Given the description of an element on the screen output the (x, y) to click on. 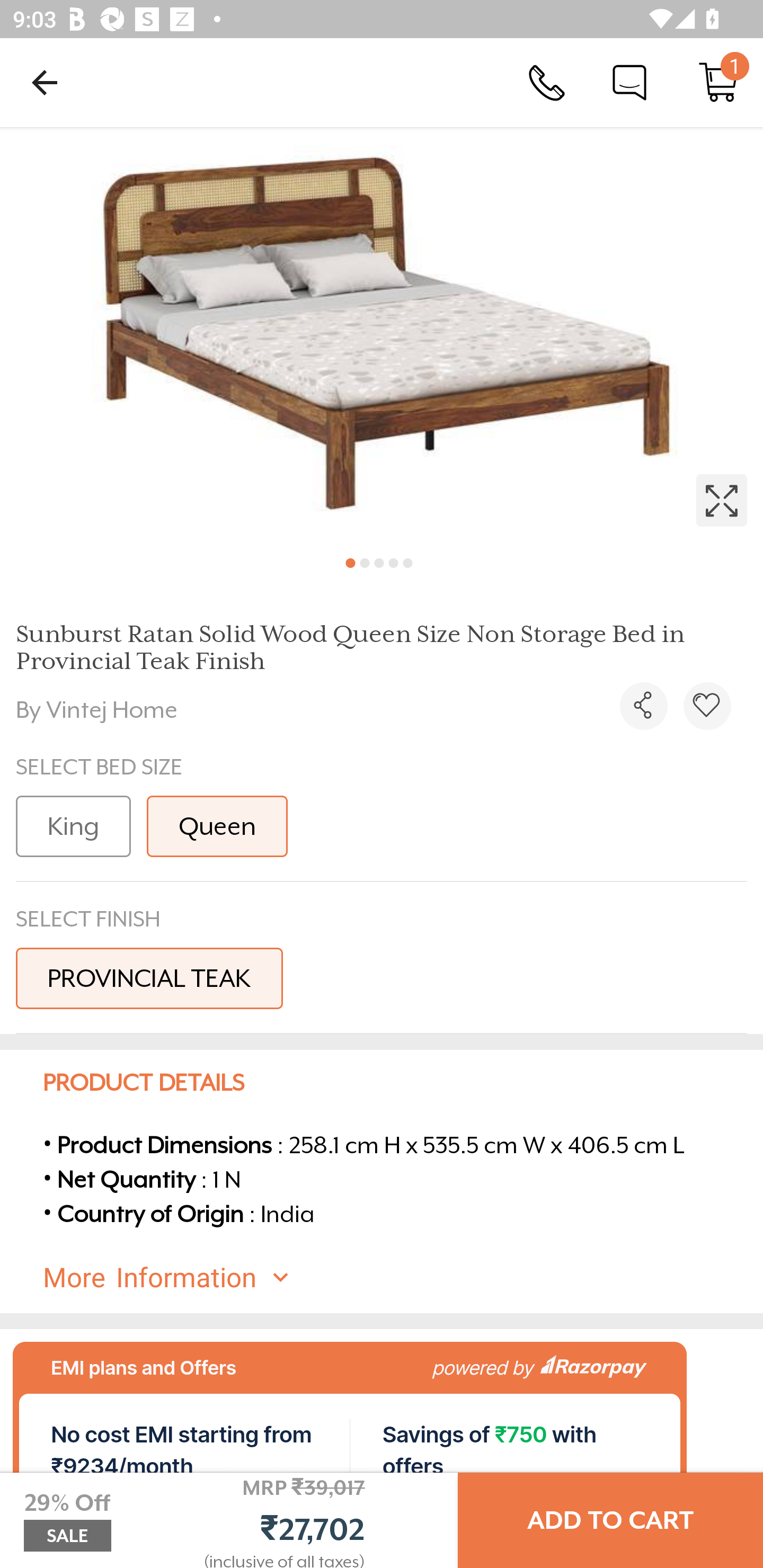
Navigate up (44, 82)
Call Us (546, 81)
Chat (629, 81)
Cart (718, 81)
 (381, 334)
 (643, 706)
 (706, 706)
King (73, 825)
Queen (216, 825)
PROVINCIAL TEAK (149, 978)
More Information  (396, 1277)
ADD TO CART (610, 1520)
